Given the description of an element on the screen output the (x, y) to click on. 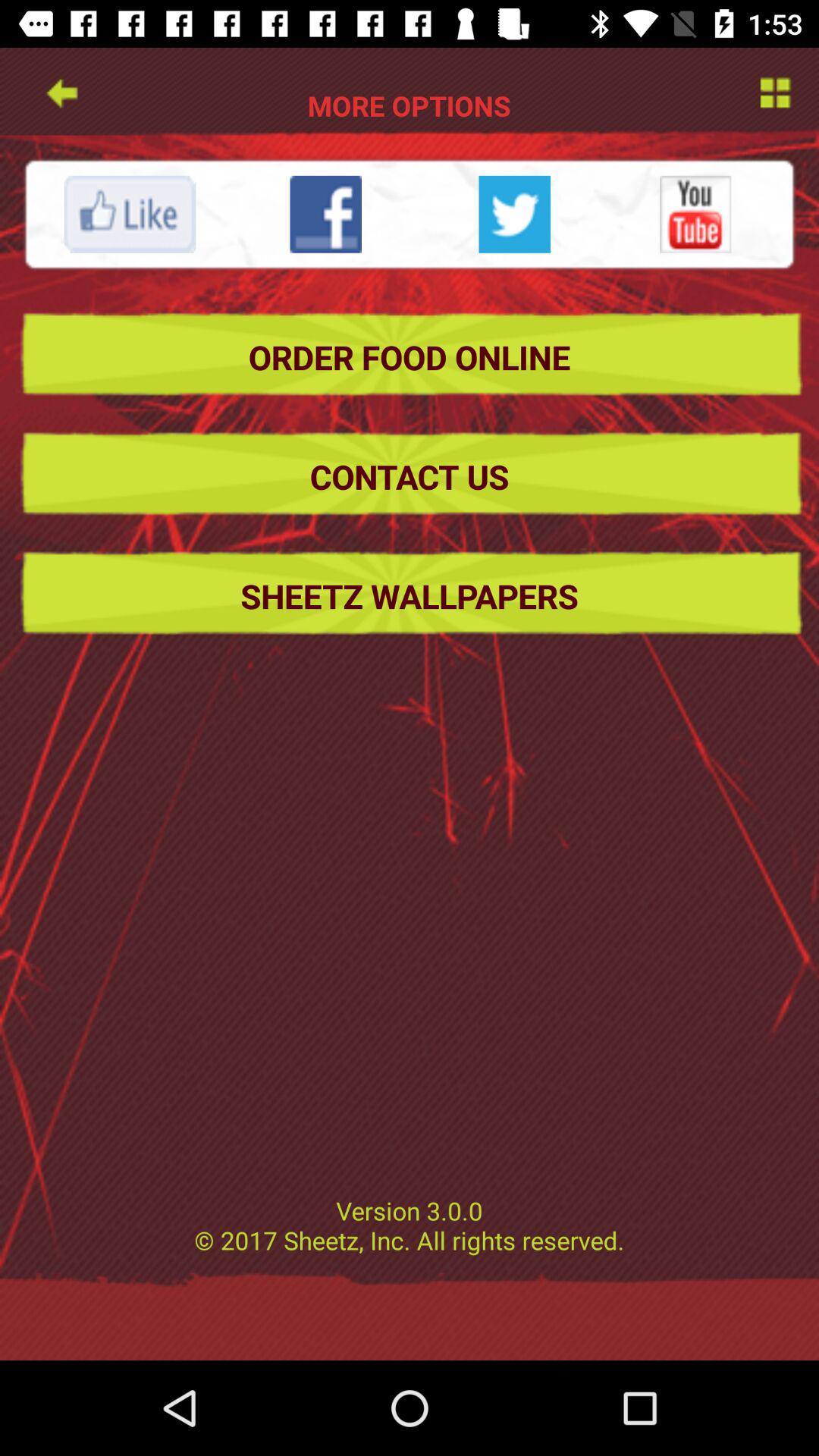
options (774, 91)
